Given the description of an element on the screen output the (x, y) to click on. 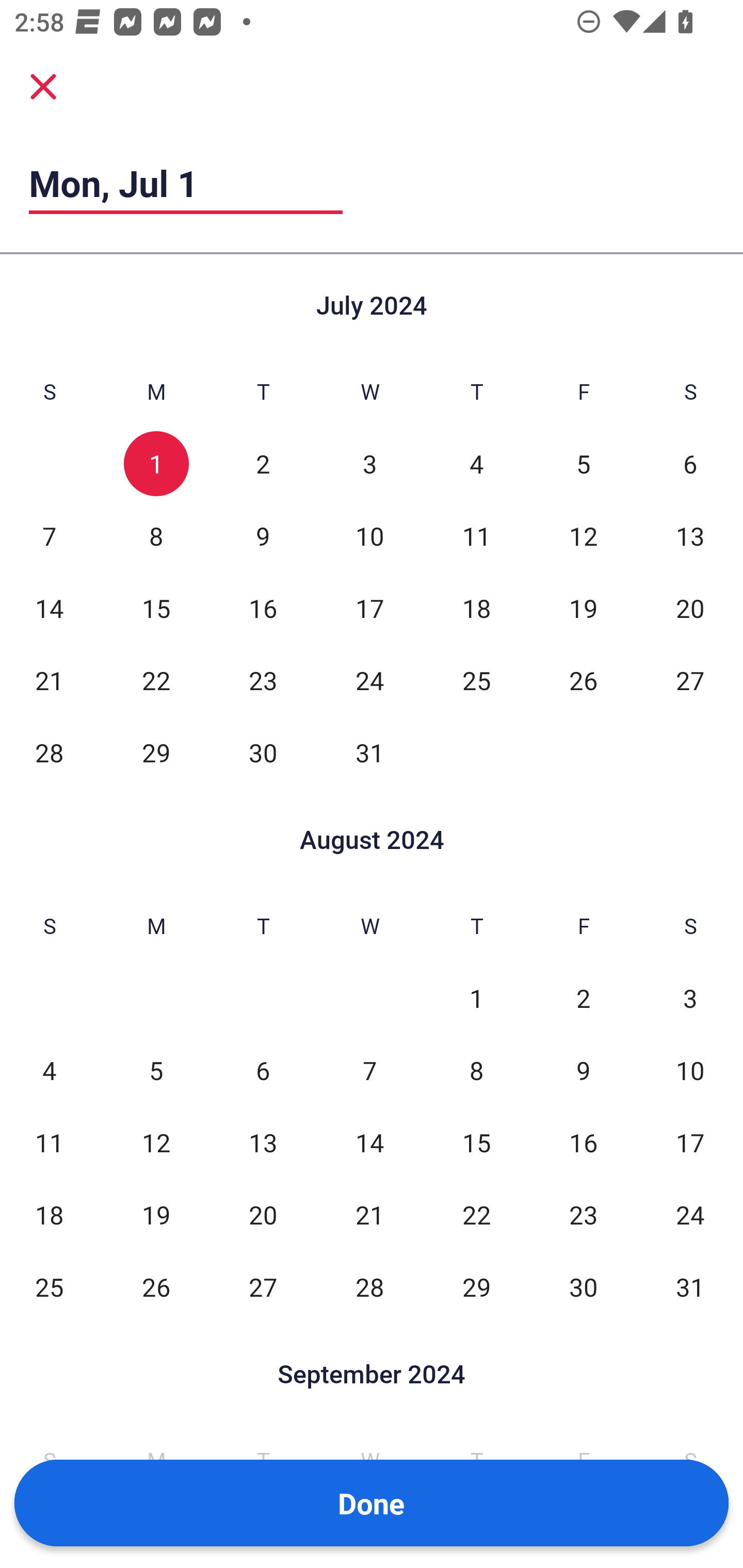
Cancel (43, 86)
Mon, Jul 1 (185, 182)
1 Mon, Jul 1, Selected (156, 464)
2 Tue, Jul 2, Not Selected (263, 464)
3 Wed, Jul 3, Not Selected (369, 464)
4 Thu, Jul 4, Not Selected (476, 464)
5 Fri, Jul 5, Not Selected (583, 464)
6 Sat, Jul 6, Not Selected (690, 464)
7 Sun, Jul 7, Not Selected (49, 536)
8 Mon, Jul 8, Not Selected (156, 536)
9 Tue, Jul 9, Not Selected (263, 536)
10 Wed, Jul 10, Not Selected (369, 536)
11 Thu, Jul 11, Not Selected (476, 536)
12 Fri, Jul 12, Not Selected (583, 536)
13 Sat, Jul 13, Not Selected (690, 536)
14 Sun, Jul 14, Not Selected (49, 608)
15 Mon, Jul 15, Not Selected (156, 608)
16 Tue, Jul 16, Not Selected (263, 608)
17 Wed, Jul 17, Not Selected (369, 608)
18 Thu, Jul 18, Not Selected (476, 608)
19 Fri, Jul 19, Not Selected (583, 608)
20 Sat, Jul 20, Not Selected (690, 608)
21 Sun, Jul 21, Not Selected (49, 680)
22 Mon, Jul 22, Not Selected (156, 680)
23 Tue, Jul 23, Not Selected (263, 680)
24 Wed, Jul 24, Not Selected (369, 680)
25 Thu, Jul 25, Not Selected (476, 680)
26 Fri, Jul 26, Not Selected (583, 680)
27 Sat, Jul 27, Not Selected (690, 680)
28 Sun, Jul 28, Not Selected (49, 752)
29 Mon, Jul 29, Not Selected (156, 752)
30 Tue, Jul 30, Not Selected (263, 752)
31 Wed, Jul 31, Not Selected (369, 752)
1 Thu, Aug 1, Not Selected (476, 997)
2 Fri, Aug 2, Not Selected (583, 997)
3 Sat, Aug 3, Not Selected (690, 997)
4 Sun, Aug 4, Not Selected (49, 1070)
5 Mon, Aug 5, Not Selected (156, 1070)
6 Tue, Aug 6, Not Selected (263, 1070)
7 Wed, Aug 7, Not Selected (369, 1070)
8 Thu, Aug 8, Not Selected (476, 1070)
9 Fri, Aug 9, Not Selected (583, 1070)
10 Sat, Aug 10, Not Selected (690, 1070)
11 Sun, Aug 11, Not Selected (49, 1143)
12 Mon, Aug 12, Not Selected (156, 1143)
13 Tue, Aug 13, Not Selected (263, 1143)
14 Wed, Aug 14, Not Selected (369, 1143)
15 Thu, Aug 15, Not Selected (476, 1143)
16 Fri, Aug 16, Not Selected (583, 1143)
17 Sat, Aug 17, Not Selected (690, 1143)
18 Sun, Aug 18, Not Selected (49, 1215)
19 Mon, Aug 19, Not Selected (156, 1215)
20 Tue, Aug 20, Not Selected (263, 1215)
21 Wed, Aug 21, Not Selected (369, 1215)
22 Thu, Aug 22, Not Selected (476, 1215)
23 Fri, Aug 23, Not Selected (583, 1215)
24 Sat, Aug 24, Not Selected (690, 1215)
25 Sun, Aug 25, Not Selected (49, 1287)
26 Mon, Aug 26, Not Selected (156, 1287)
27 Tue, Aug 27, Not Selected (263, 1287)
28 Wed, Aug 28, Not Selected (369, 1287)
29 Thu, Aug 29, Not Selected (476, 1287)
30 Fri, Aug 30, Not Selected (583, 1287)
31 Sat, Aug 31, Not Selected (690, 1287)
Done Button Done (371, 1502)
